Given the description of an element on the screen output the (x, y) to click on. 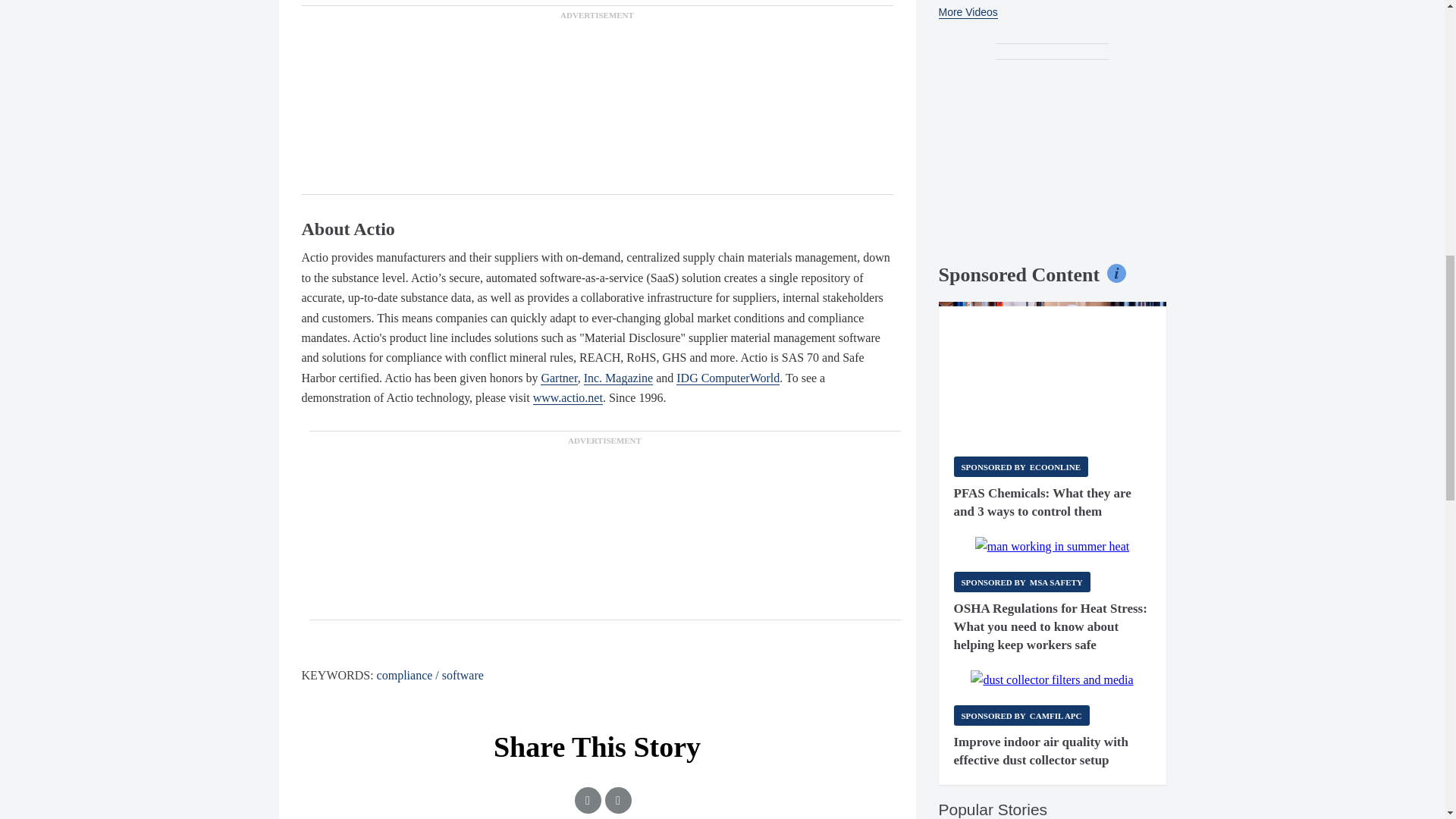
chemical safety (1052, 371)
Sponsored by Camfil APC (1021, 715)
man working in summer heat (1052, 546)
dust collector filters and media (1051, 680)
Sponsored by EcoOnline (1021, 466)
Sponsored by MSA Safety (1021, 581)
